Given the description of an element on the screen output the (x, y) to click on. 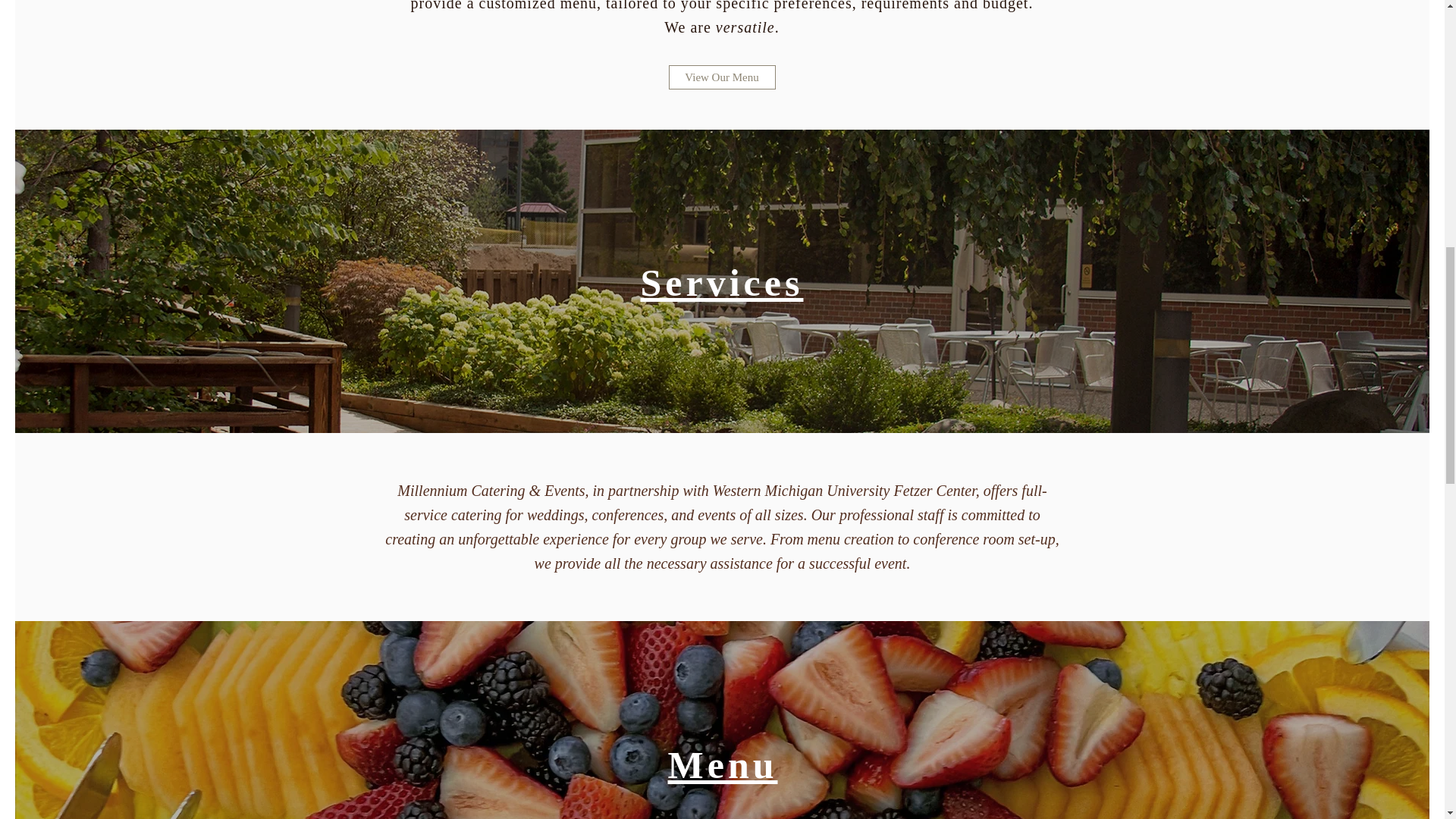
View Our Menu (722, 77)
Menu (721, 764)
Services (721, 282)
